Given the description of an element on the screen output the (x, y) to click on. 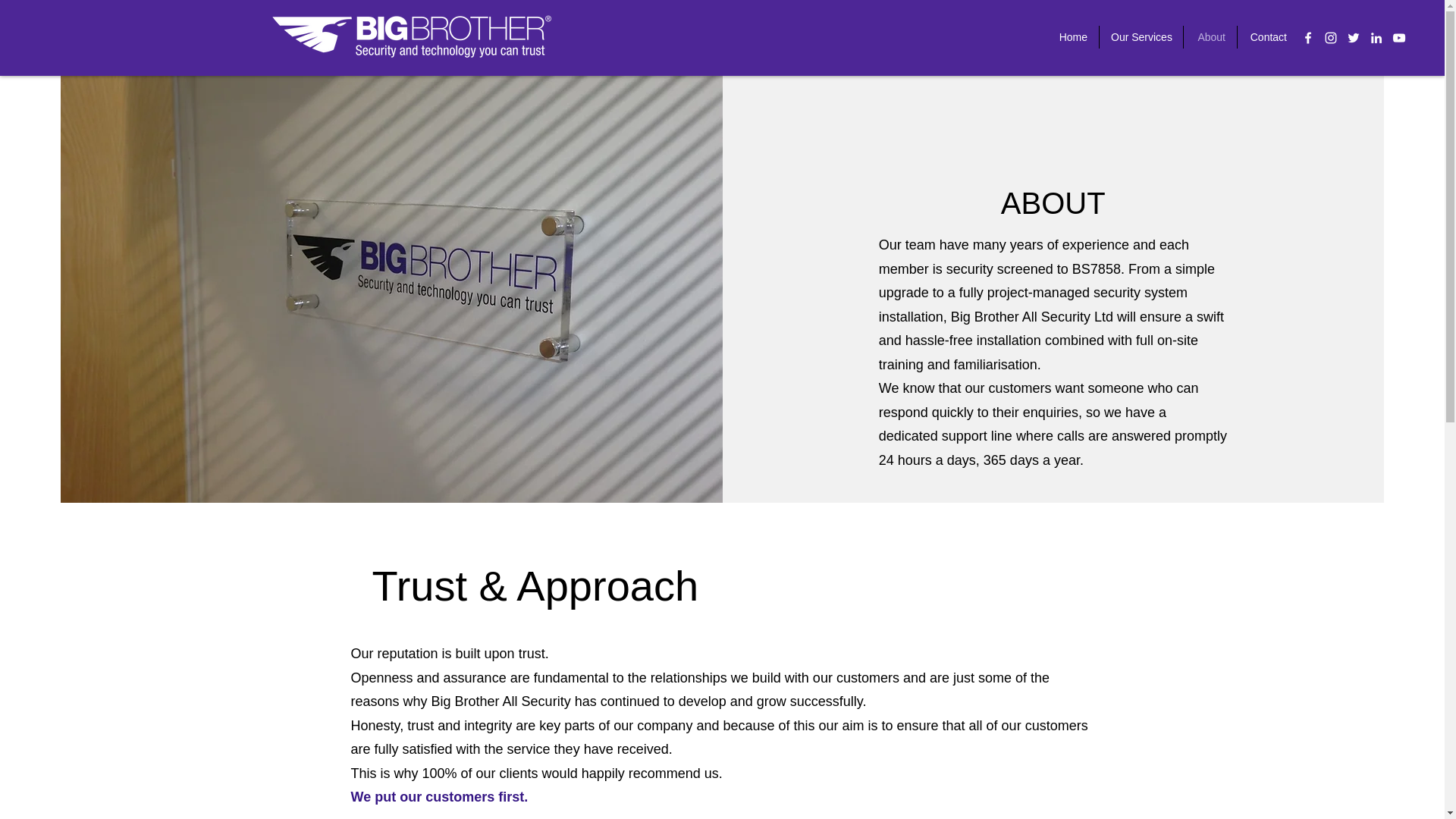
Contact (1267, 36)
About (1209, 36)
Home (1072, 36)
Our Services (1140, 36)
